Given the description of an element on the screen output the (x, y) to click on. 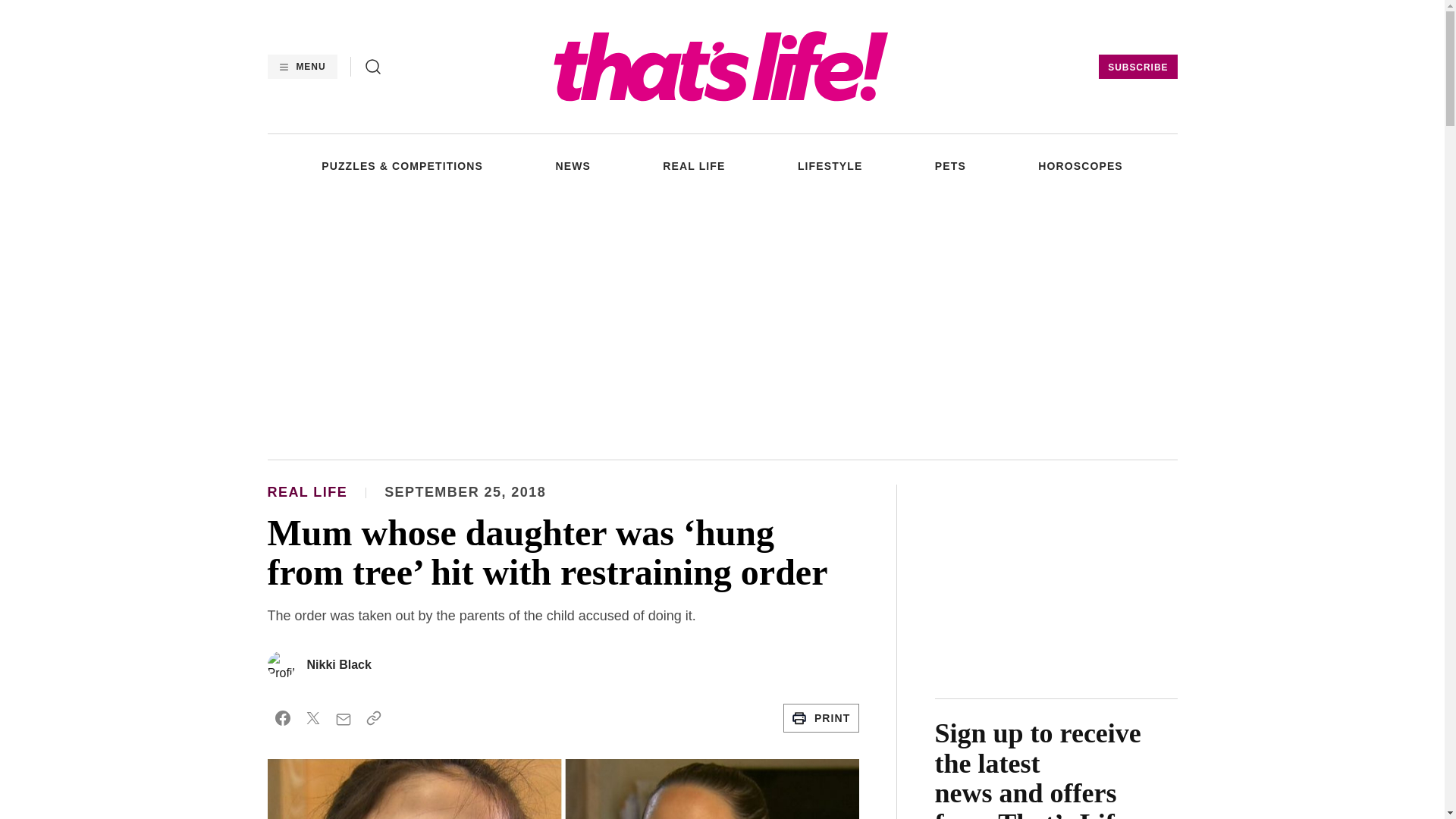
REAL LIFE (693, 165)
3rd party ad content (721, 325)
LIFESTYLE (830, 165)
MENU (301, 66)
SUBSCRIBE (1137, 66)
PETS (950, 165)
NEWS (571, 165)
HOROSCOPES (1080, 165)
3rd party ad content (1055, 579)
